Given the description of an element on the screen output the (x, y) to click on. 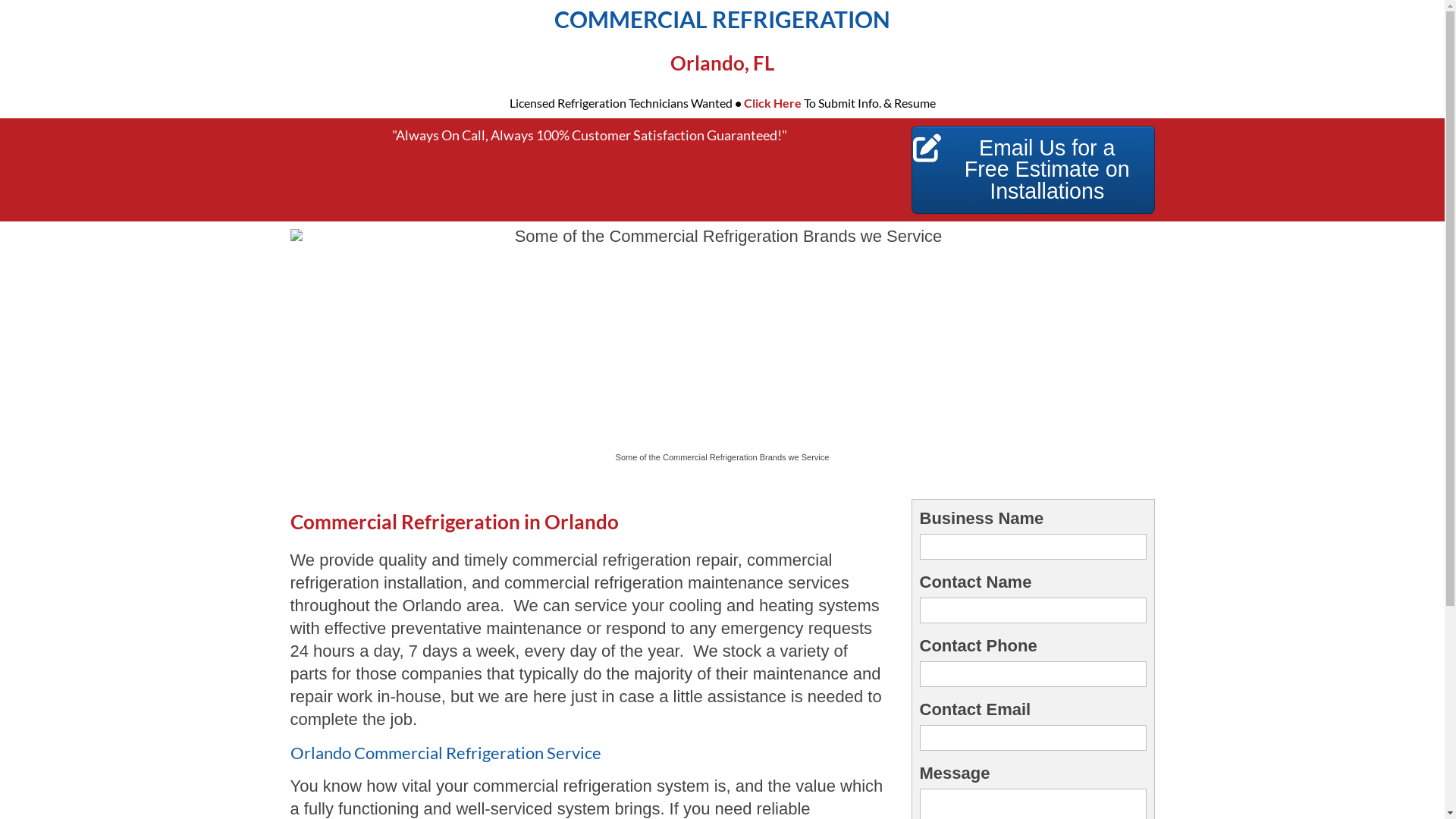
Commercial Refrigeration Brands Element type: hover (721, 337)
Click Here Element type: text (771, 102)
Email Us for a Free Estimate on Installations Element type: text (1032, 169)
